Given the description of an element on the screen output the (x, y) to click on. 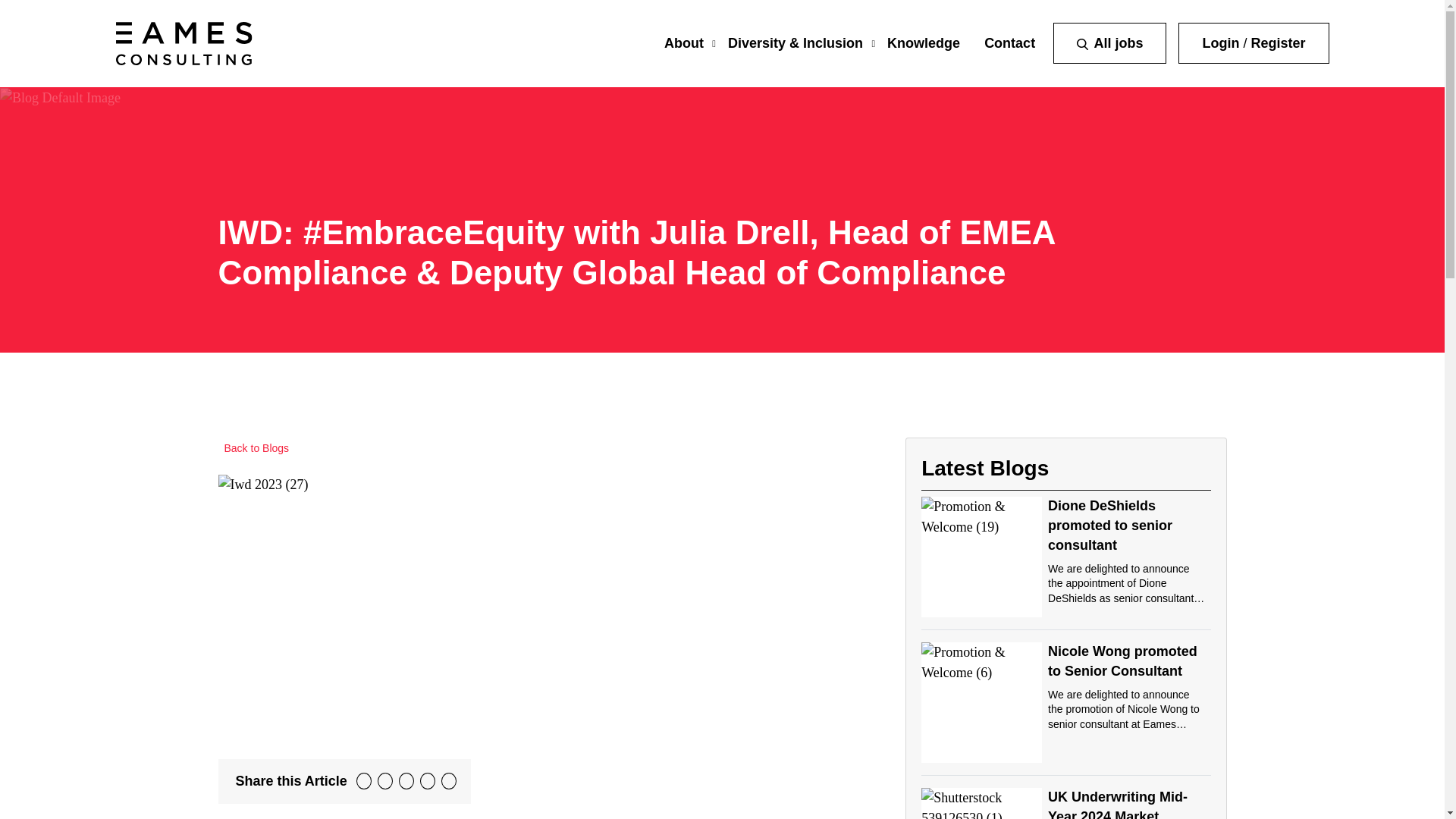
search (1082, 43)
Contact (1009, 43)
Login (1220, 43)
About (683, 43)
Knowledge (922, 43)
Dione DeShields promoted to senior consultant (1110, 524)
Register (1277, 43)
search All jobs (1109, 42)
Back to Blogs (253, 448)
Nicole Wong promoted to Senior Consultant (1122, 660)
